Given the description of an element on the screen output the (x, y) to click on. 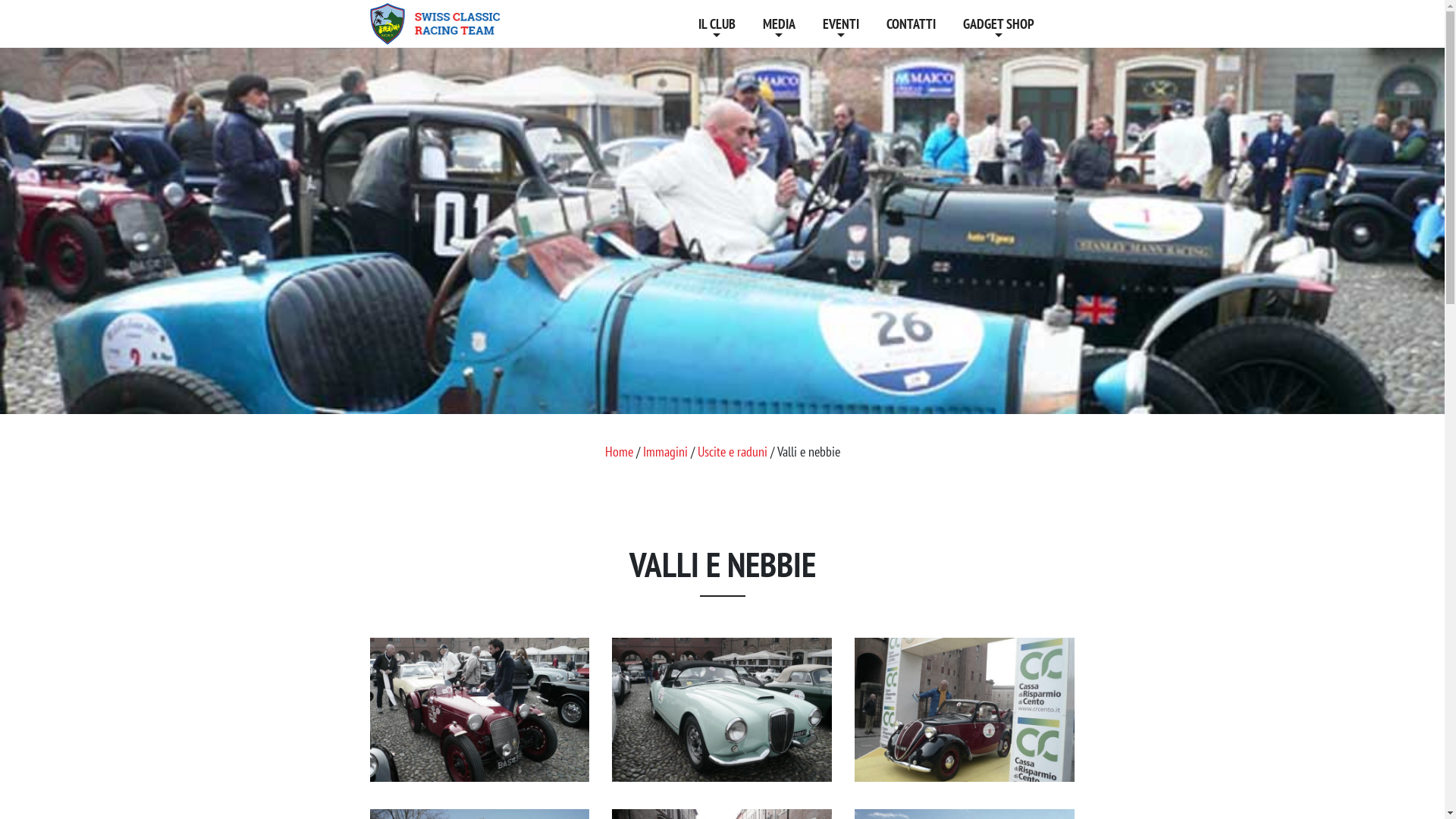
Home Element type: text (619, 451)
GADGET SHOP Element type: text (998, 23)
MEDIA Element type: text (779, 23)
Immagini Element type: text (665, 451)
Area soci Element type: hover (1061, 23)
CONTATTI Element type: text (910, 23)
Uscite e raduni Element type: text (732, 451)
Home Element type: hover (670, 23)
EVENTI Element type: text (840, 23)
IL CLUB Element type: text (716, 23)
